Given the description of an element on the screen output the (x, y) to click on. 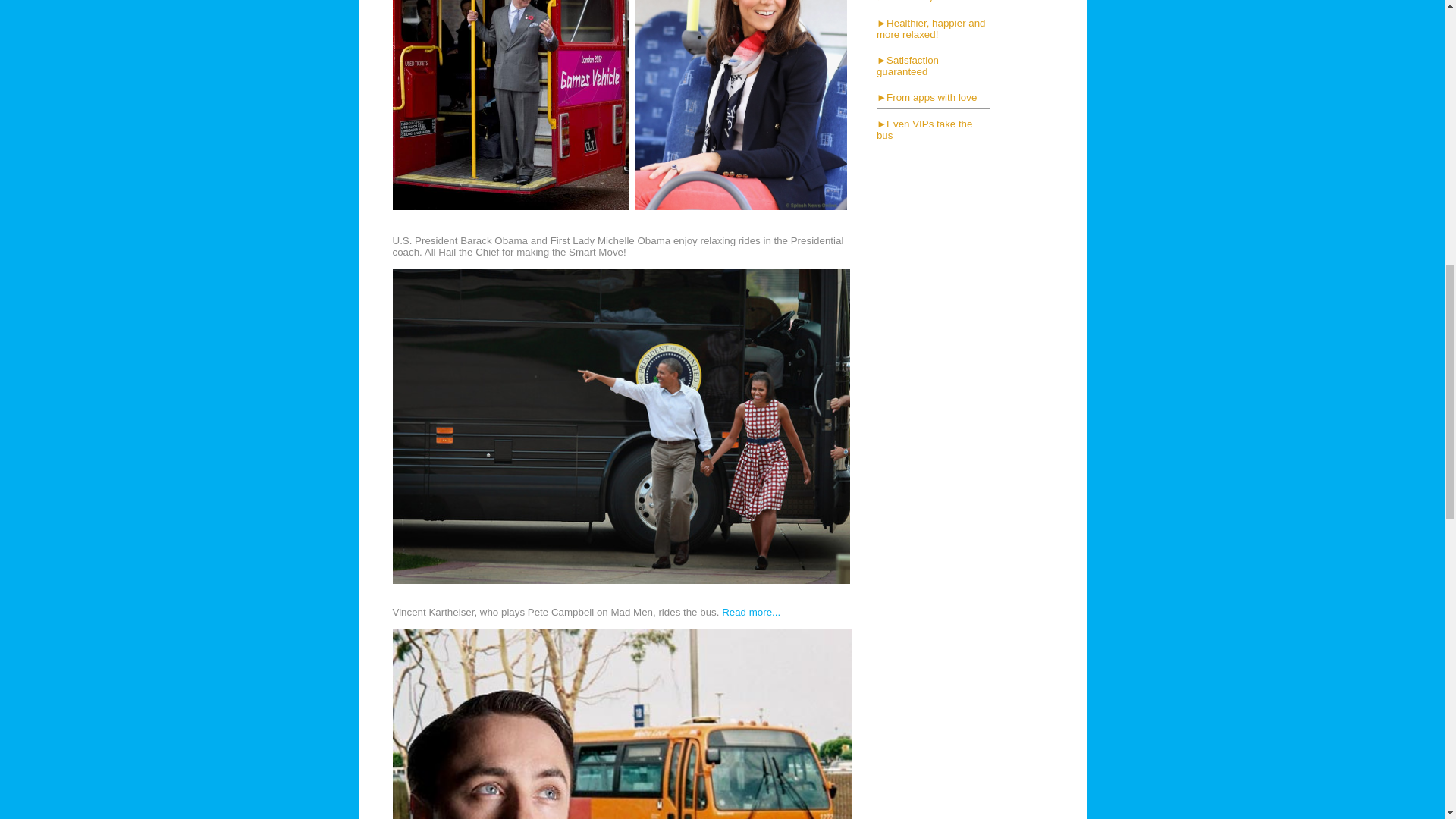
Good for your love life (935, 1)
Healthier, happier and more relaxed! (930, 28)
From apps with love (931, 97)
Read more... (751, 612)
Healthier, happier and more relaxed! (930, 28)
Good for your love life (935, 1)
Satisfaction guaranteed (907, 65)
Even VIPs take the bus (924, 128)
